Given the description of an element on the screen output the (x, y) to click on. 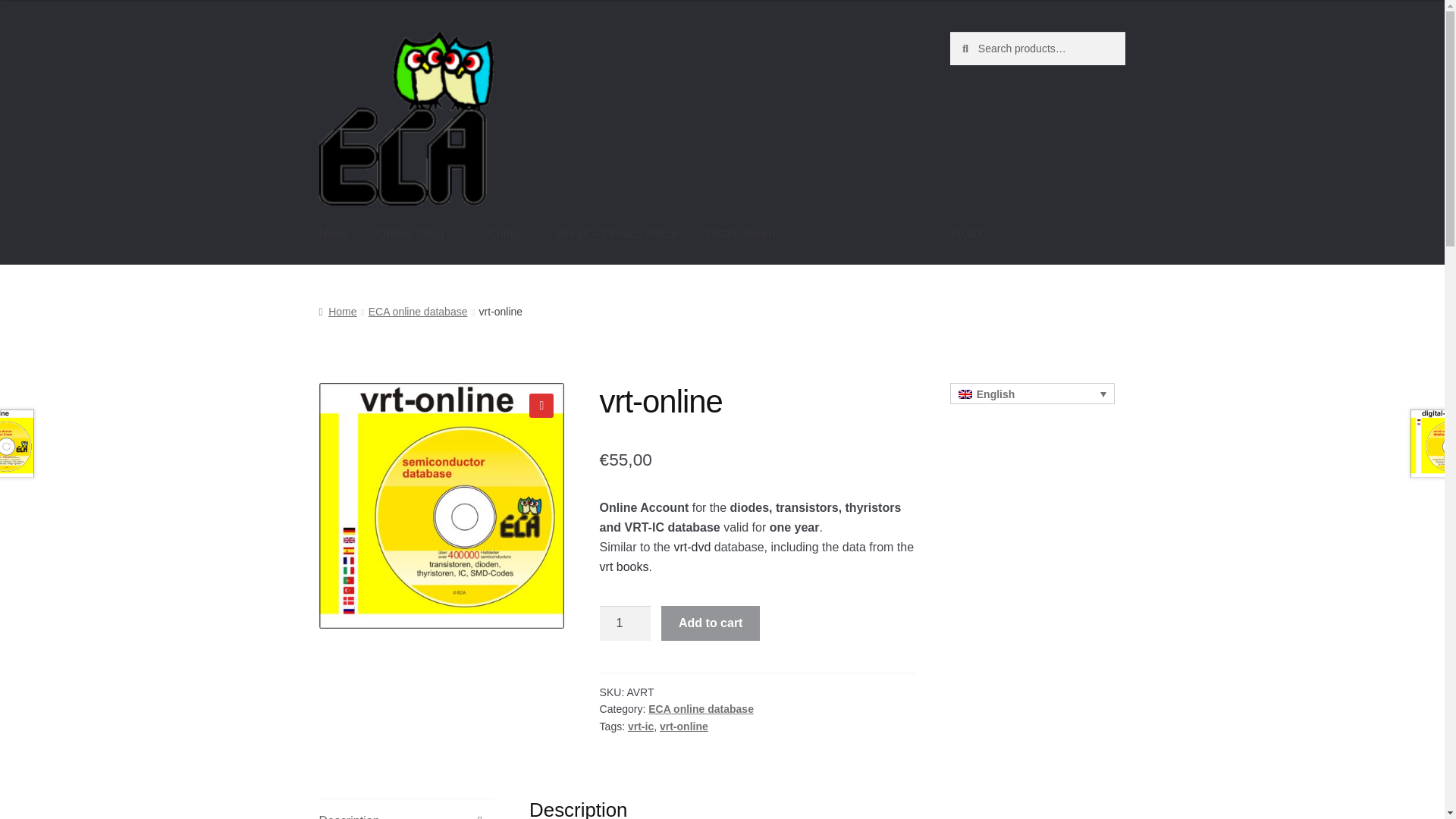
Home (337, 311)
ECA online database (700, 708)
ECA online database (417, 311)
Description (406, 809)
vrtonline (441, 505)
vrt-online (683, 726)
1 (624, 623)
Distributoren (740, 234)
Online Shop (418, 234)
